Given the description of an element on the screen output the (x, y) to click on. 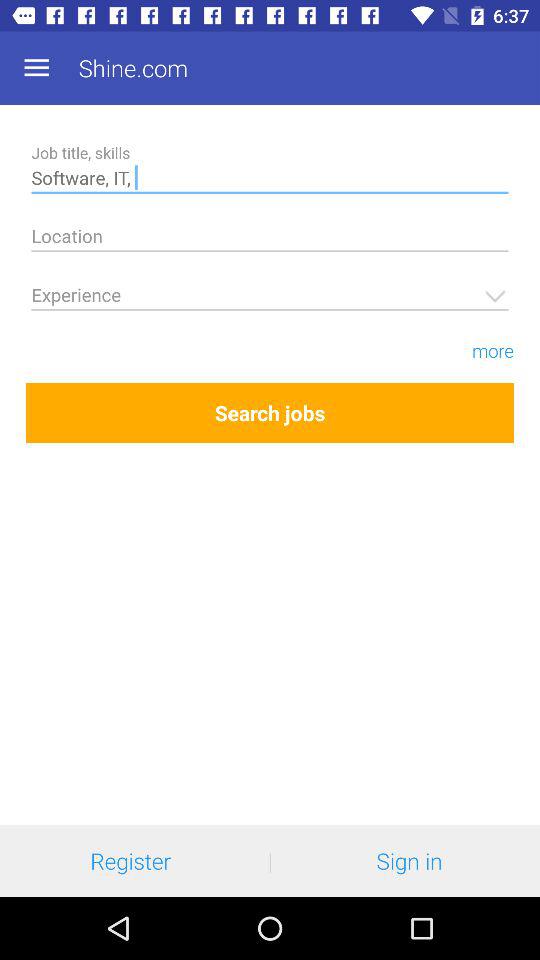
type the location (269, 239)
